Given the description of an element on the screen output the (x, y) to click on. 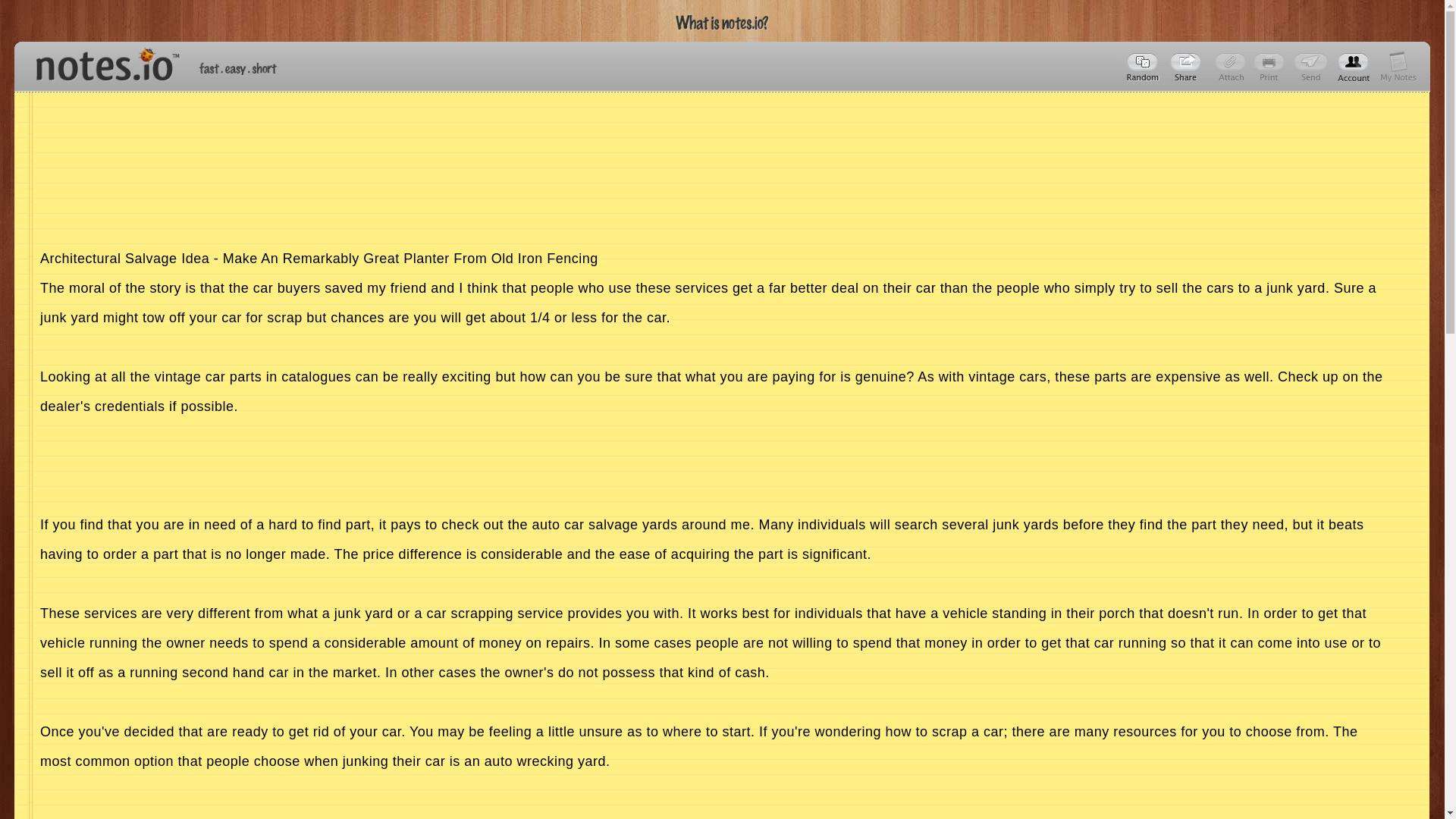
what is notes.io? (721, 22)
Popular notes (1143, 67)
Advertisement (712, 797)
AQMM (1187, 67)
Coming soon (1270, 67)
Fast, easy and short (237, 68)
notes (100, 61)
Account (1398, 67)
Account (1353, 67)
